Given the description of an element on the screen output the (x, y) to click on. 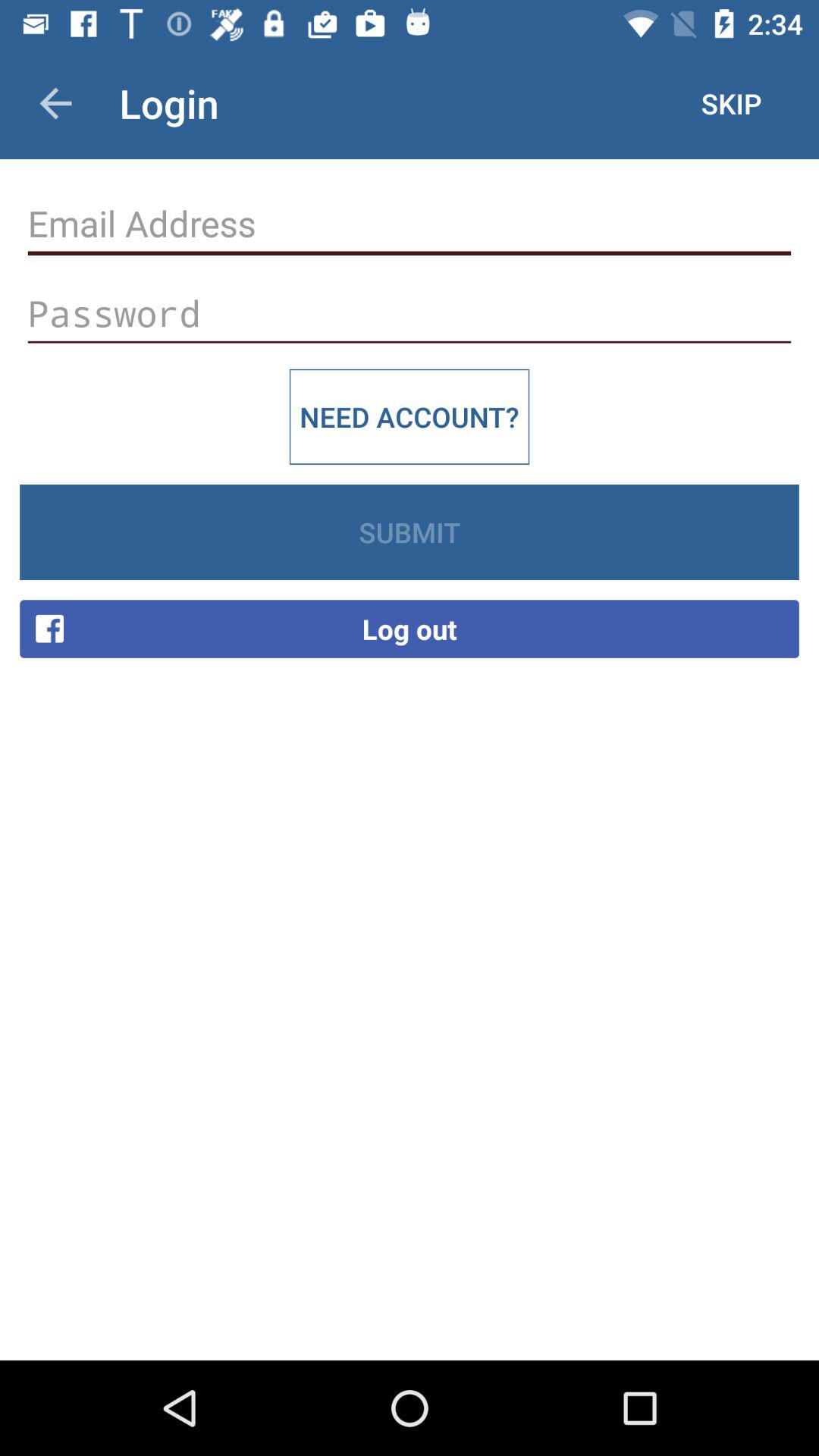
press app to the left of the login item (55, 103)
